Given the description of an element on the screen output the (x, y) to click on. 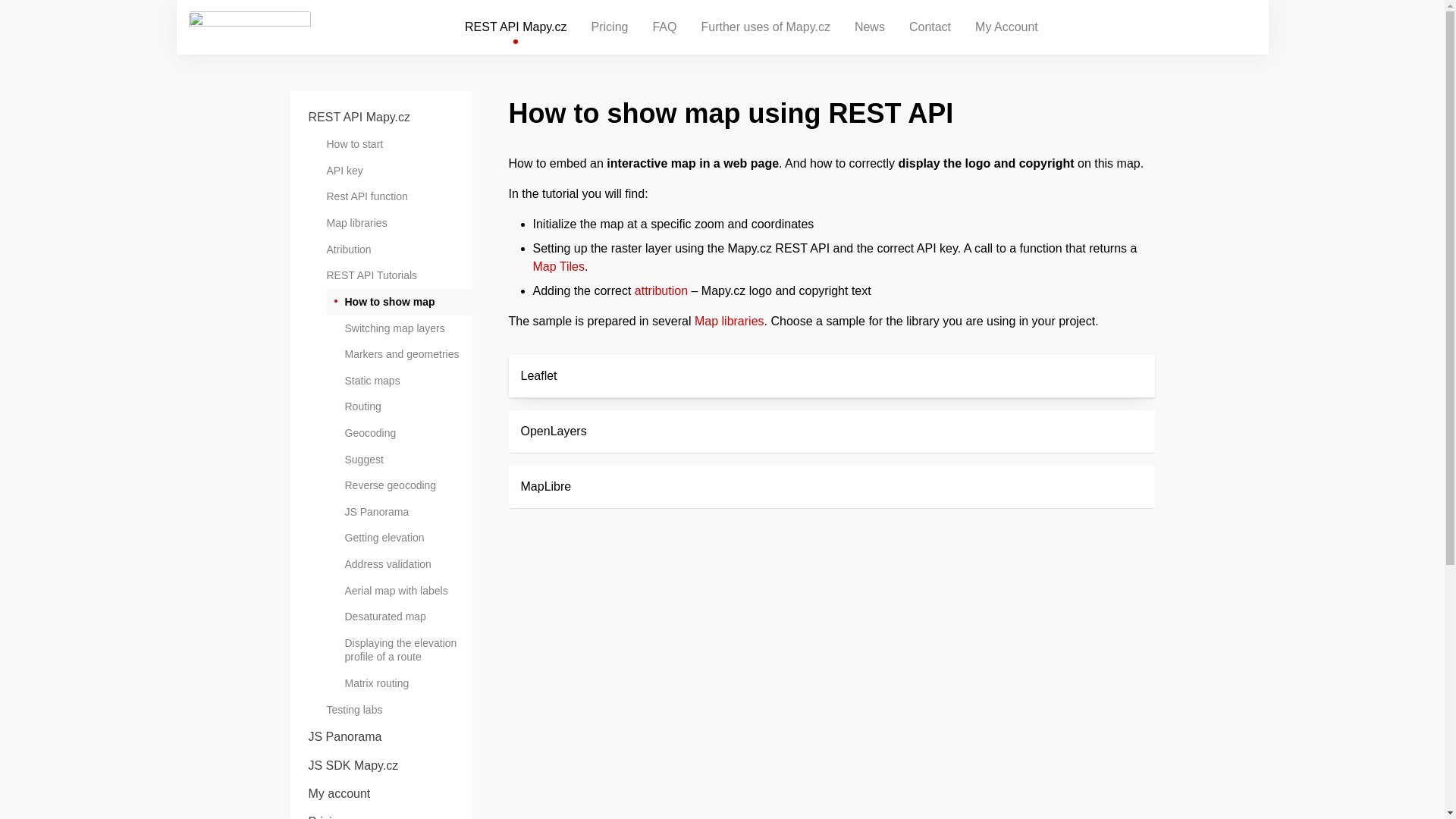
Reverse geocoding (398, 485)
Rest API function (389, 196)
Contact (929, 27)
Pricing (609, 27)
How to show map (398, 302)
Markers and geometries (398, 354)
Switching map layers (398, 328)
News (869, 27)
My Account (1005, 27)
Static maps (398, 380)
Getting elevation (398, 537)
JS Panorama (398, 511)
Geocoding (398, 433)
REST API Mapy.cz (515, 27)
Further uses of Mapy.cz (764, 27)
